Given the description of an element on the screen output the (x, y) to click on. 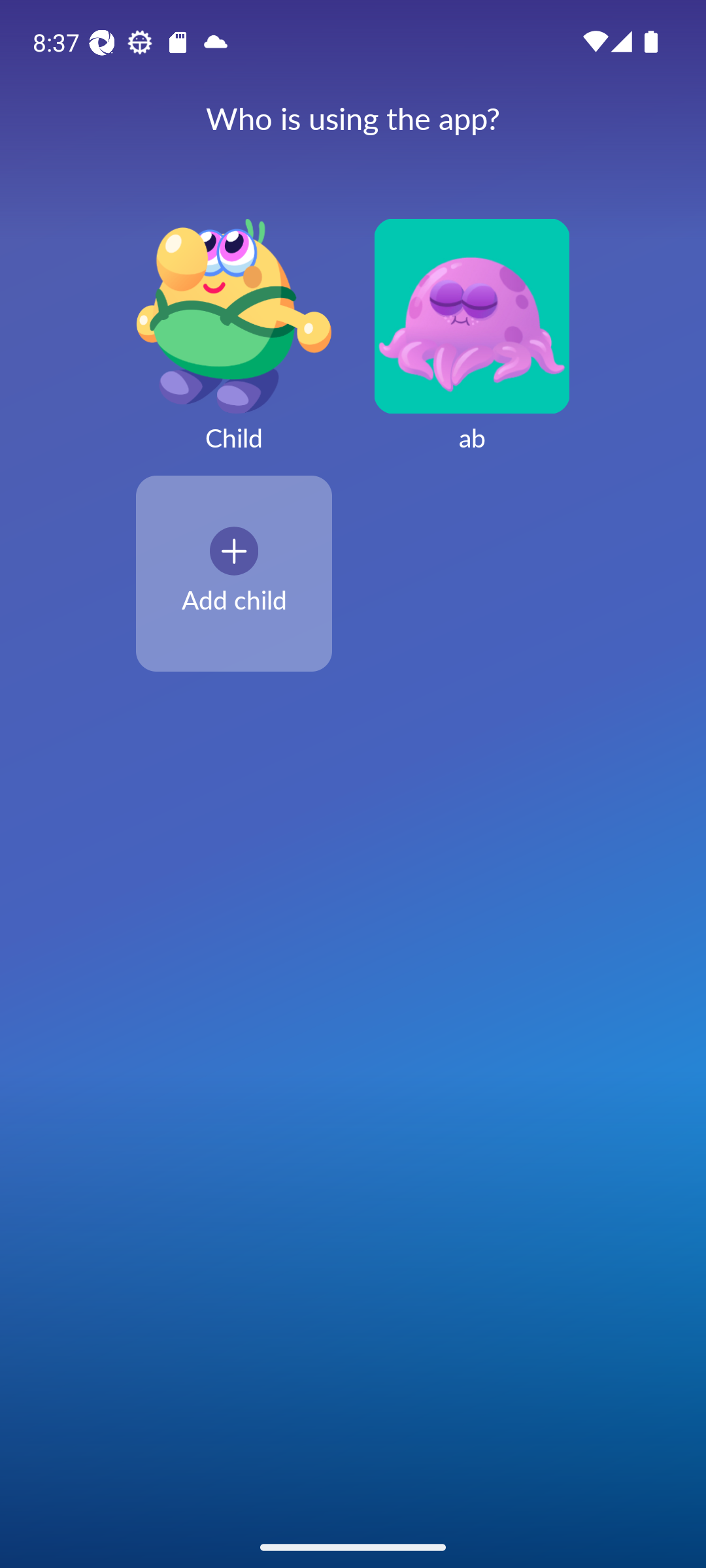
Child (233, 346)
ab (471, 346)
Add child (233, 573)
